Given the description of an element on the screen output the (x, y) to click on. 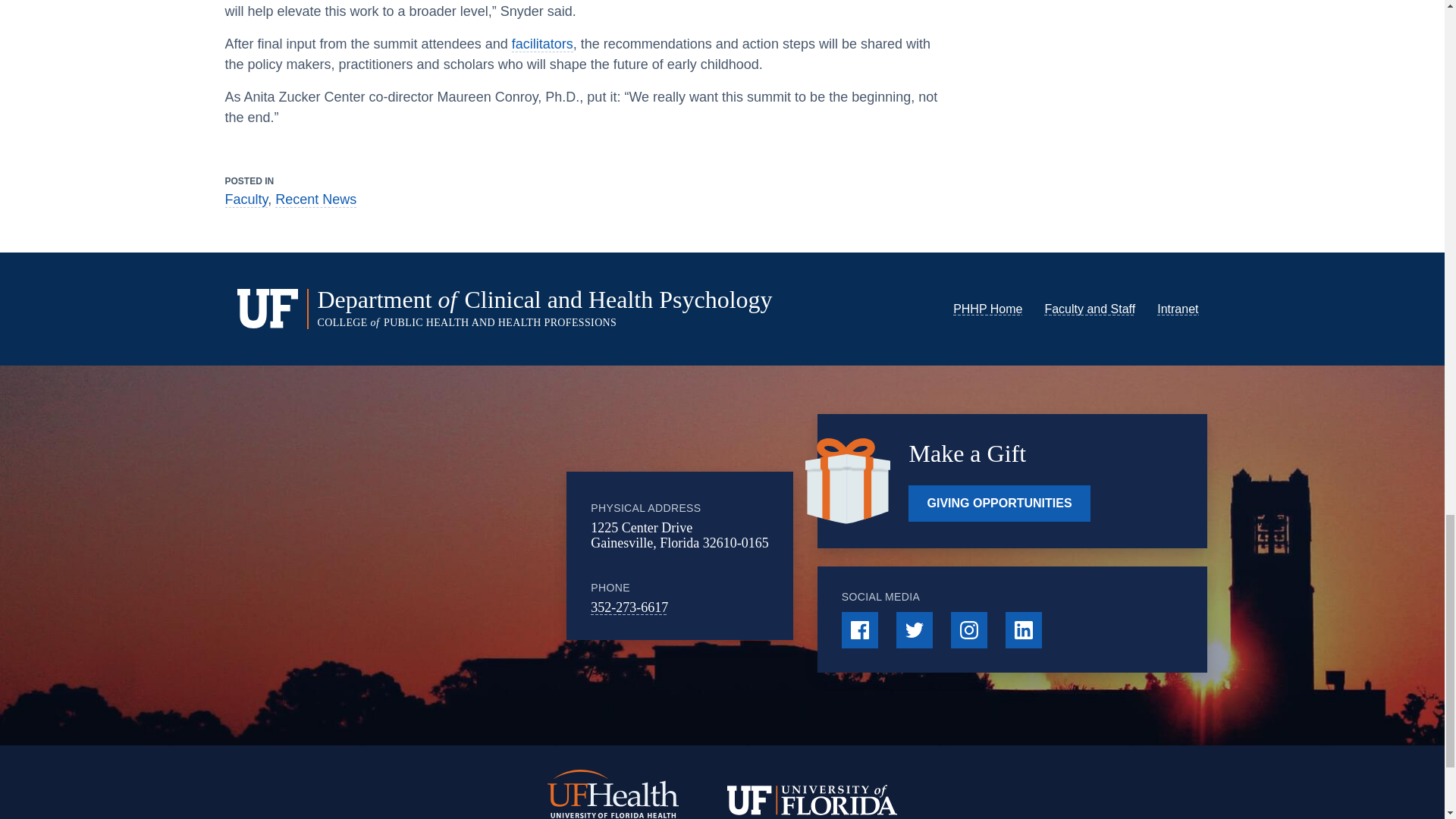
Intranet (1177, 308)
PHHP Home (987, 308)
352-273-6617 (629, 607)
Google Maps Embed (449, 555)
Faculty and Staff (1089, 308)
